Given the description of an element on the screen output the (x, y) to click on. 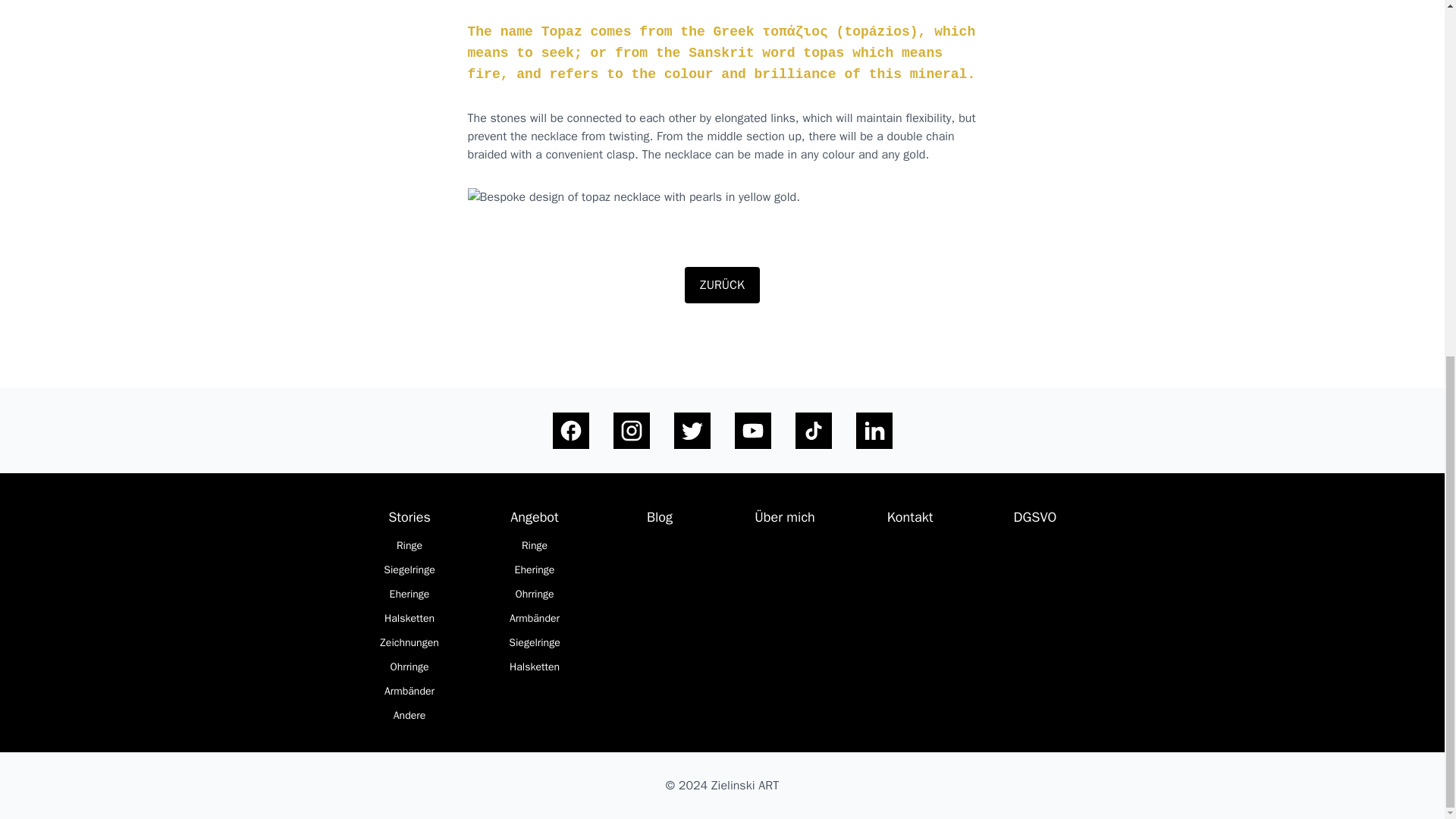
Stories (408, 515)
Halsketten (409, 618)
Eheringe (534, 569)
Ohrringe (533, 594)
Andere (409, 715)
Zeichnungen (408, 642)
Eheringe (409, 594)
Ringe (408, 545)
Ringe (534, 545)
Ohrringe (409, 667)
Angebot (533, 515)
Siegelringe (409, 569)
Siegelringe (534, 642)
